Given the description of an element on the screen output the (x, y) to click on. 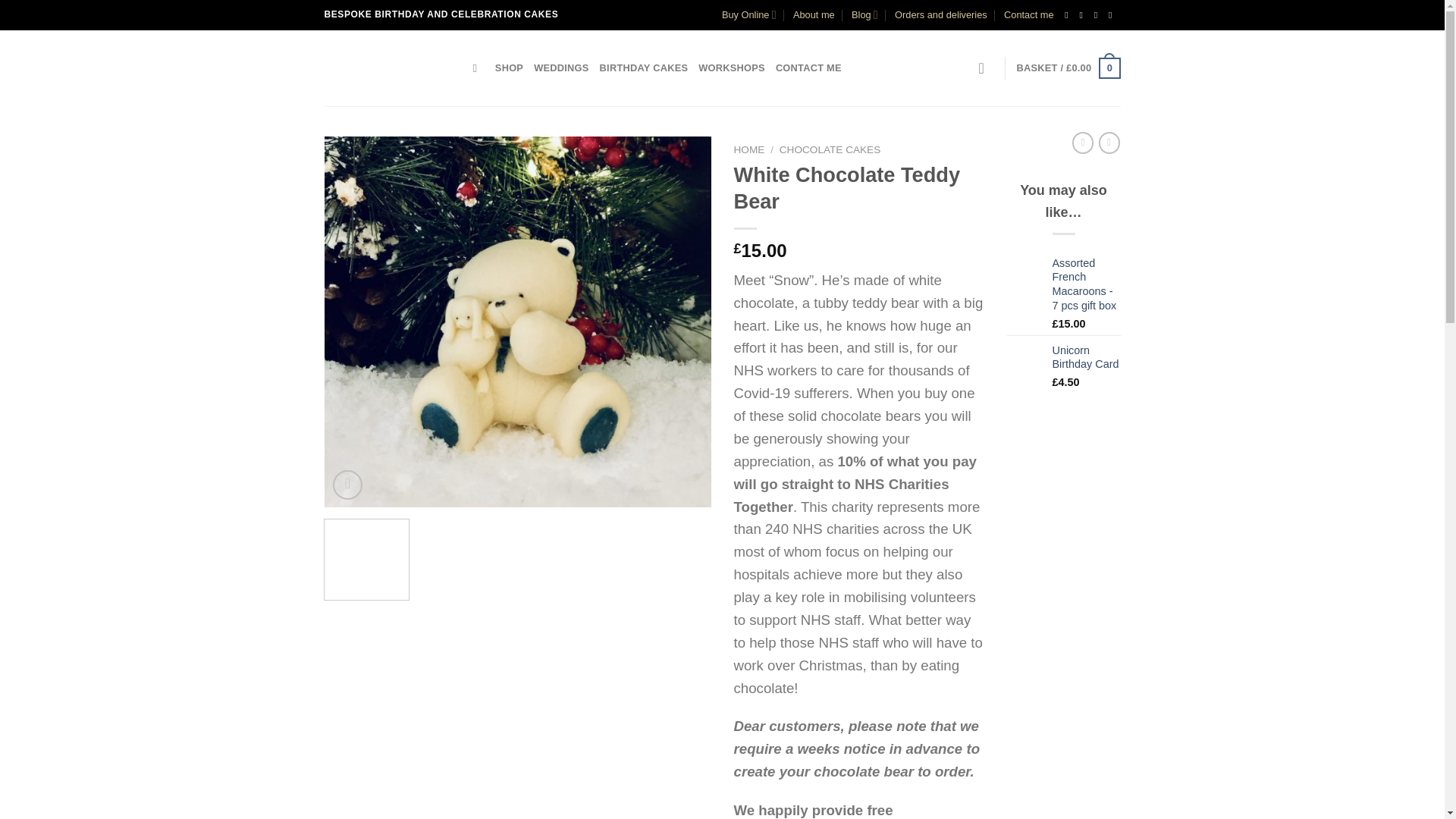
CONTACT ME (808, 68)
Follow on Twitter (1098, 14)
Basket (1067, 67)
HOME (749, 149)
Assorted French Macaroons - 7 pcs gift box (1086, 284)
Orders and deliveries (941, 15)
About me (813, 15)
Follow on Instagram (1084, 14)
BIRTHDAY CAKES (643, 68)
CHOCOLATE CAKES (829, 149)
Zoom (347, 484)
WORKSHOPS (731, 68)
Buy Online (749, 15)
